Given the description of an element on the screen output the (x, y) to click on. 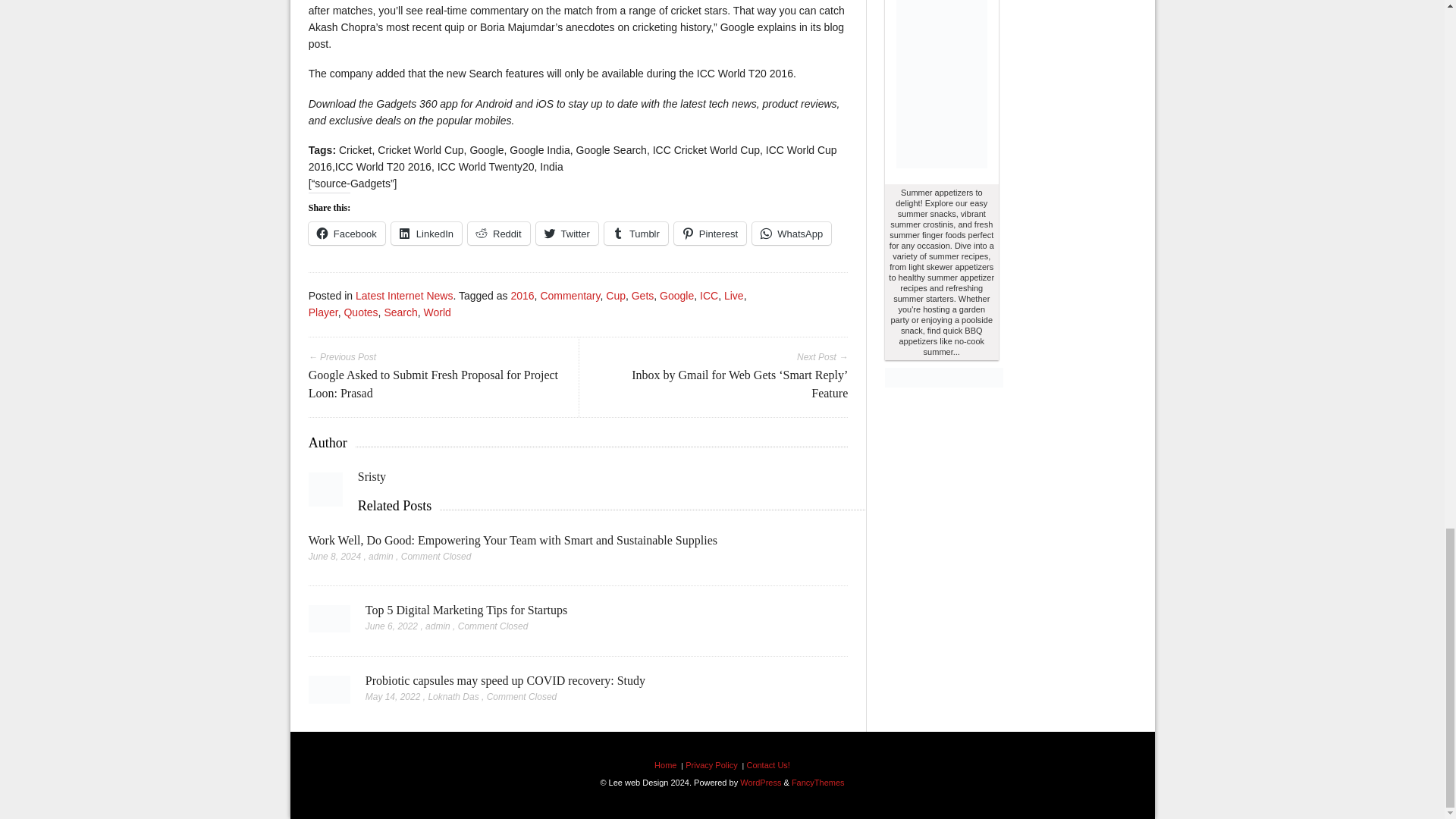
Tumblr (636, 232)
2016 (522, 295)
Sristy (371, 476)
Probiotic capsules may speed up COVID recovery: Study (329, 693)
Cup (615, 295)
Click to share on Facebook (346, 232)
Click to share on Twitter (566, 232)
Posts by admin (437, 625)
Twitter (566, 232)
Google (676, 295)
